Given the description of an element on the screen output the (x, y) to click on. 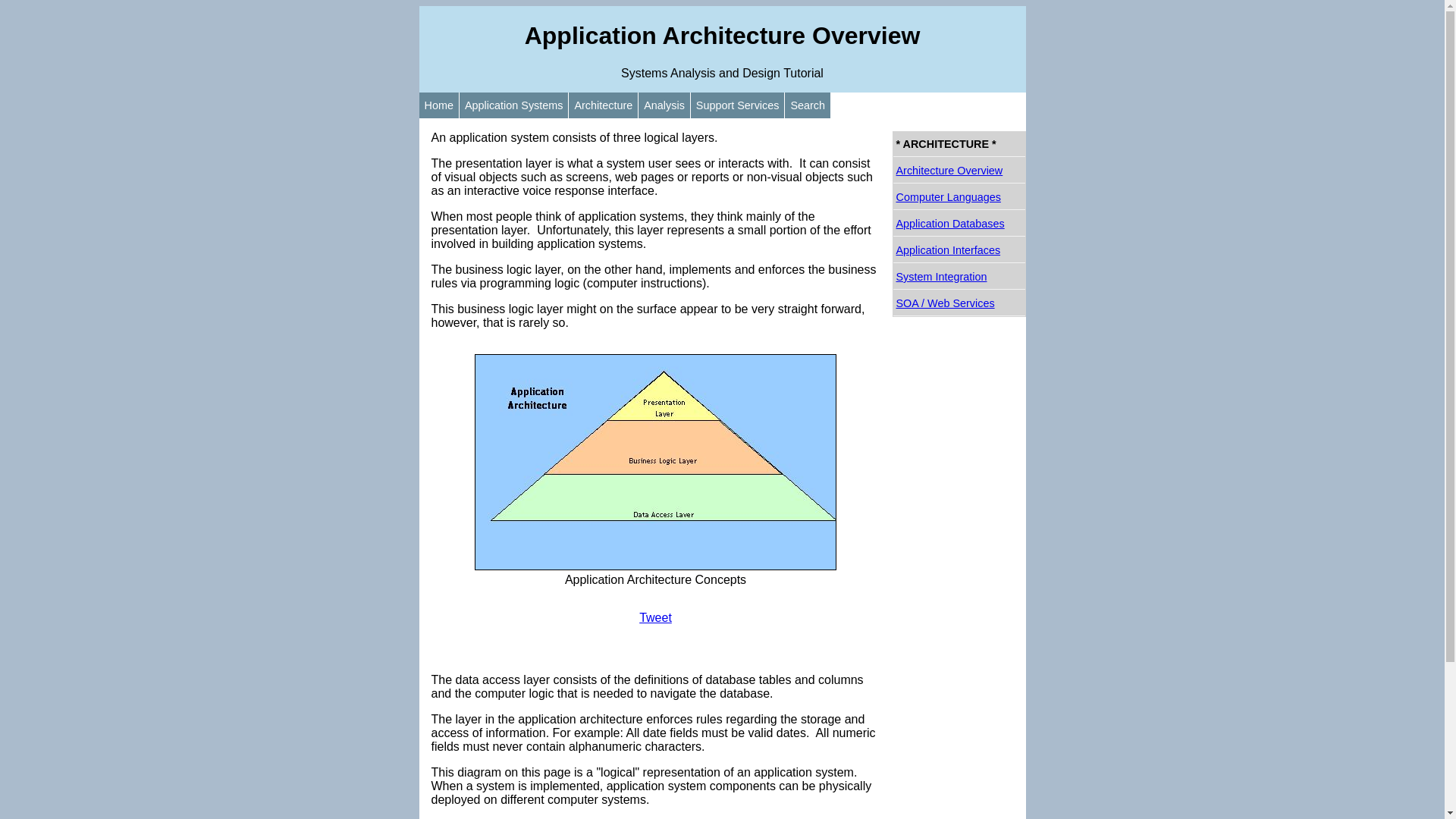
Application Databases (959, 223)
Tweet (655, 617)
Architecture (603, 104)
Architecture Overview (959, 170)
System Integration (959, 276)
Home (438, 104)
Computer Languages (959, 197)
Analysis (664, 104)
Search (806, 104)
Application Interfaces (959, 250)
Application Systems (514, 104)
Support Services (737, 104)
